Given the description of an element on the screen output the (x, y) to click on. 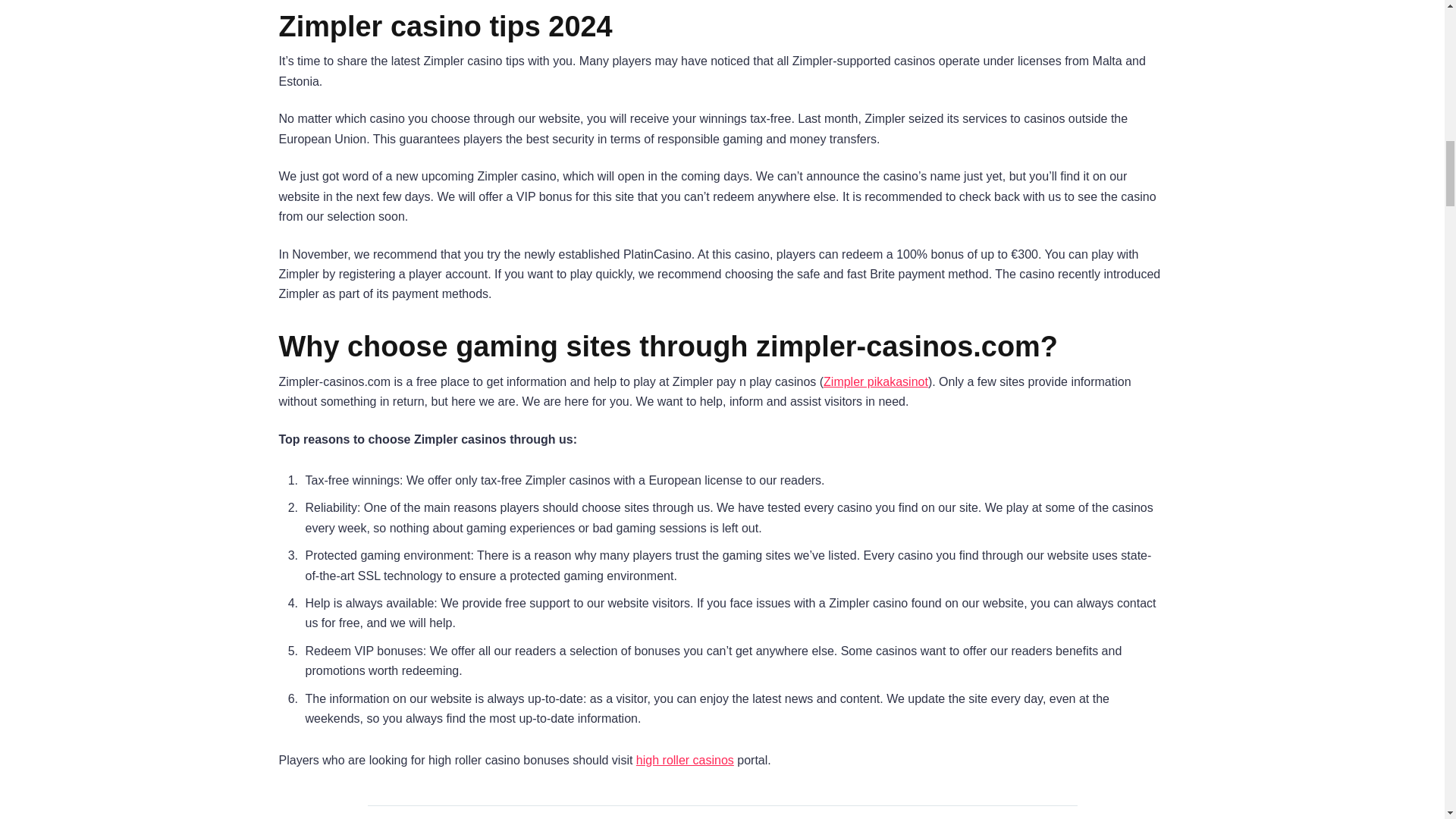
Zimpler pikakasinot (876, 381)
high roller casinos (684, 759)
